Given the description of an element on the screen output the (x, y) to click on. 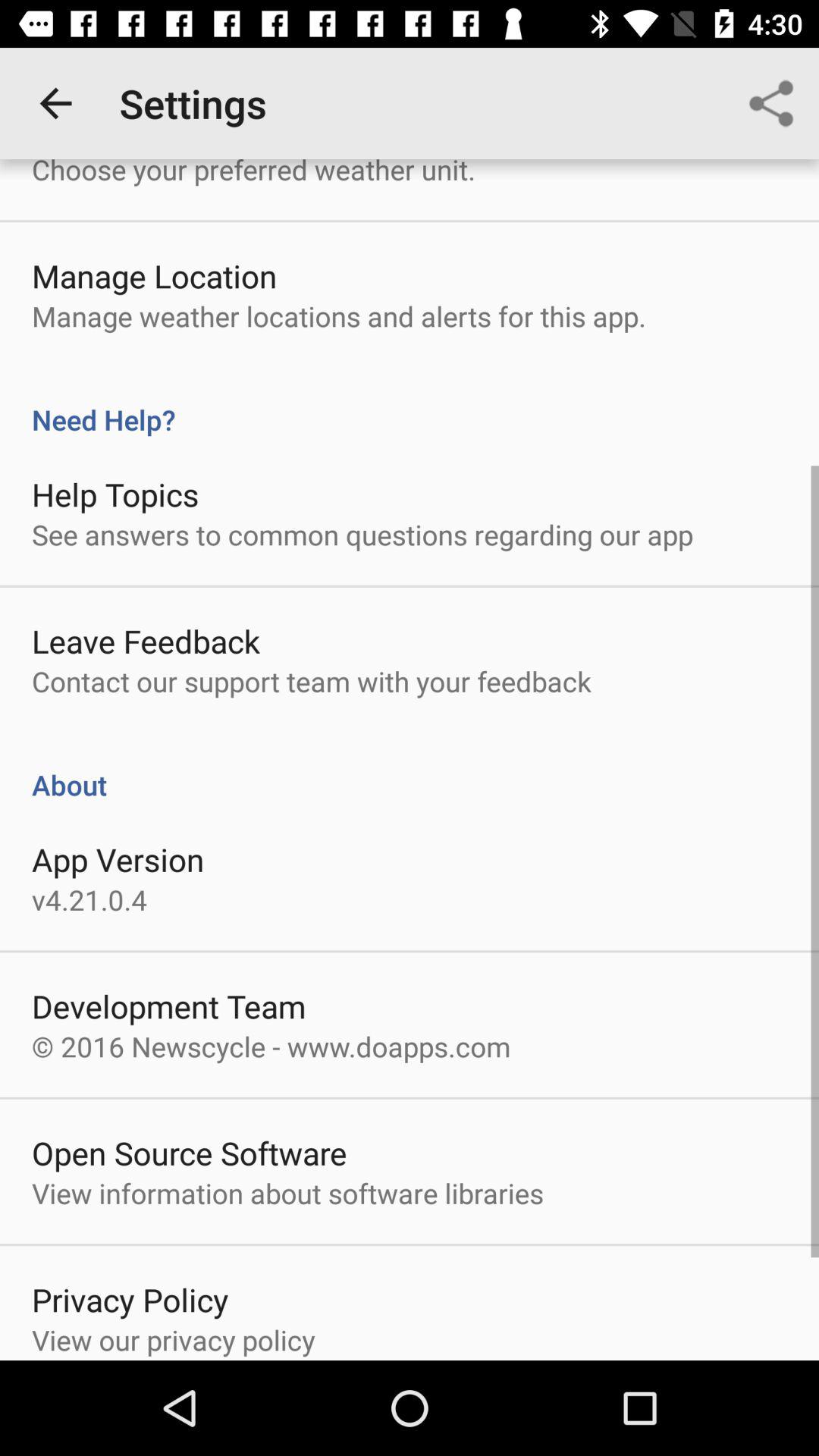
press the app version item (117, 858)
